Given the description of an element on the screen output the (x, y) to click on. 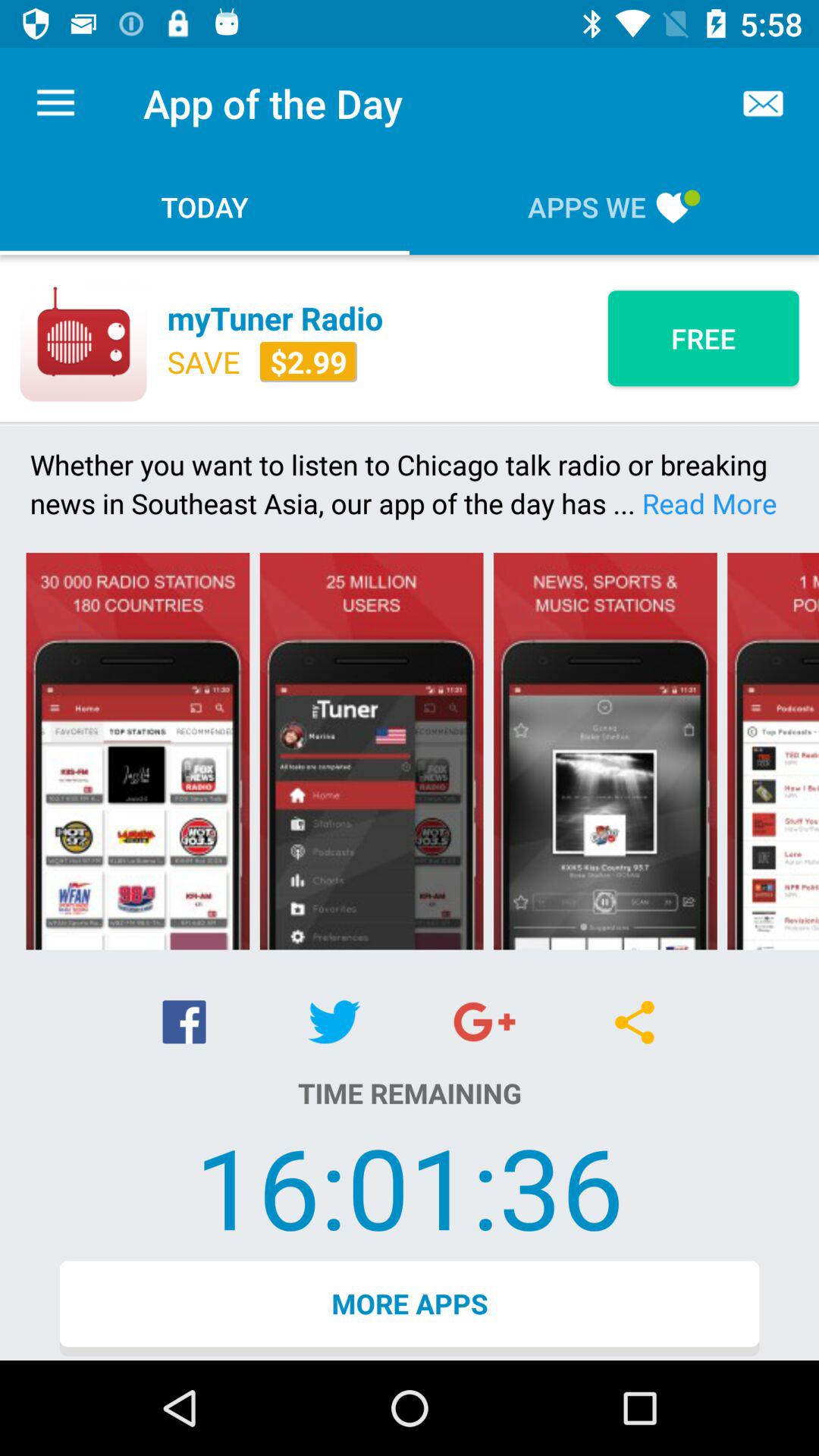
choose the item above time remaining icon (484, 1021)
